Given the description of an element on the screen output the (x, y) to click on. 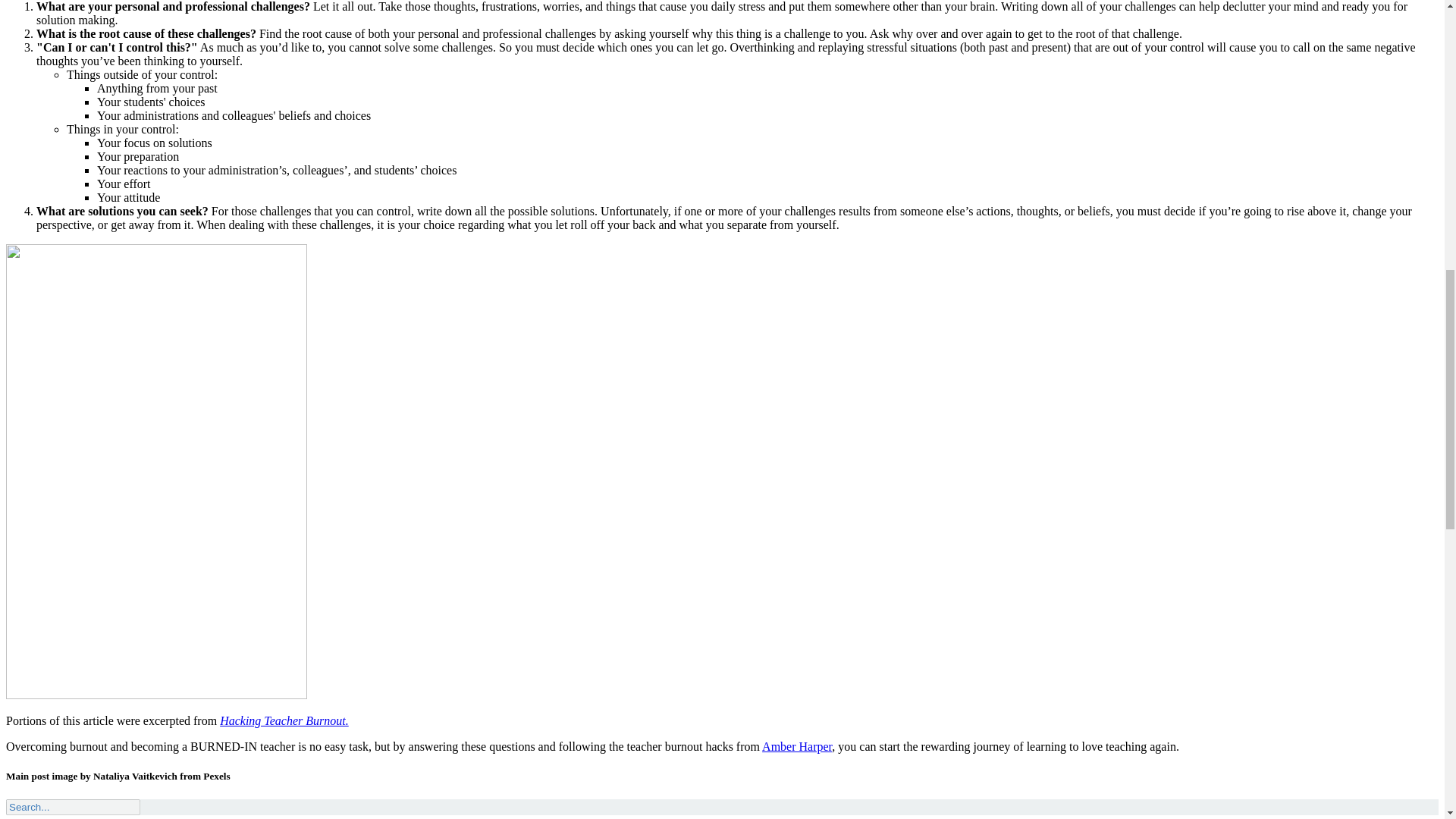
Amber Harper (796, 746)
Hacking Teacher Burnout. (284, 720)
